Given the description of an element on the screen output the (x, y) to click on. 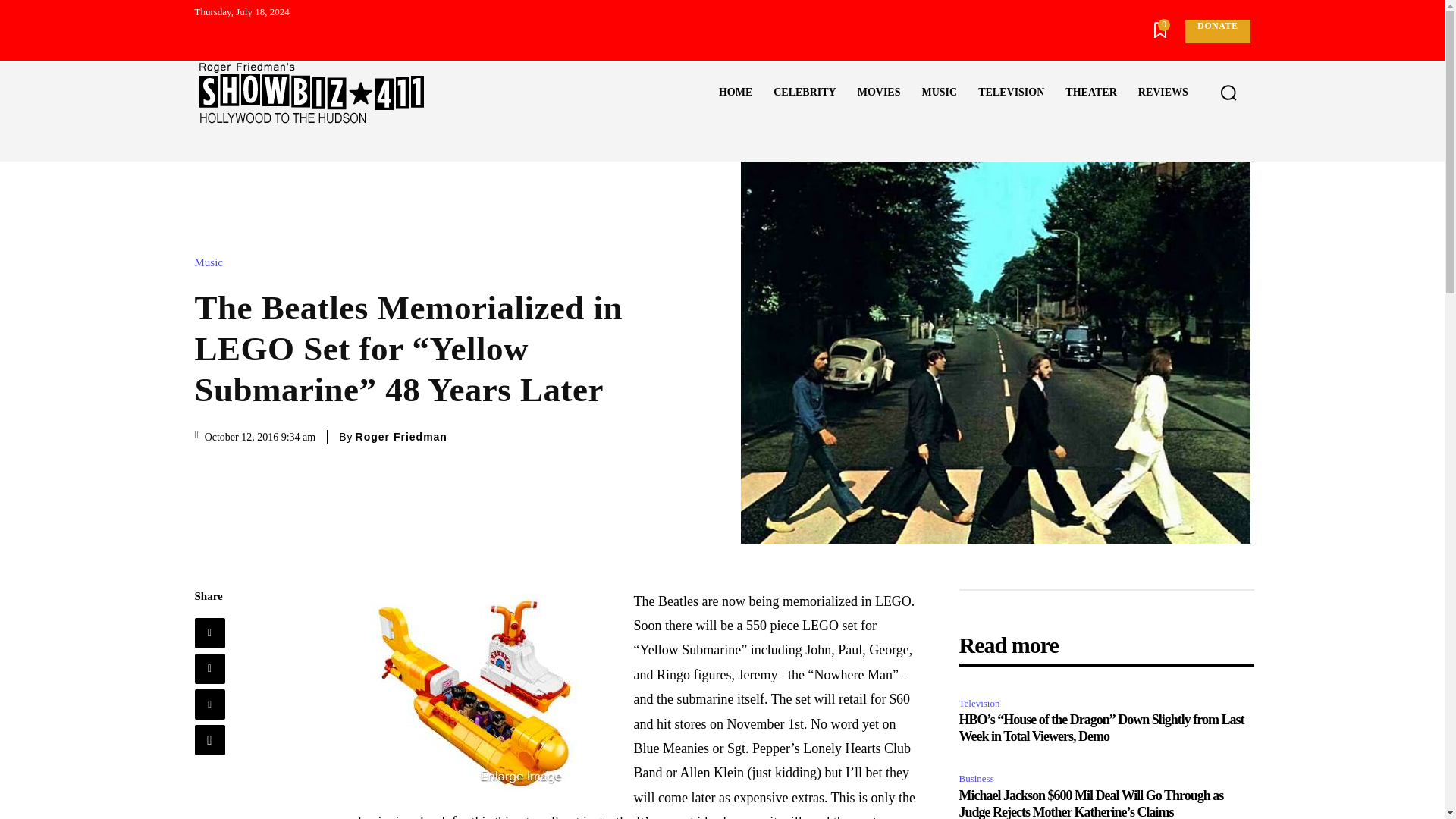
Donate (1217, 31)
HOME (734, 92)
Pinterest (208, 704)
WhatsApp (208, 739)
DONATE (1217, 31)
Twitter (208, 668)
REVIEWS (1162, 92)
THEATER (1090, 92)
Facebook (208, 633)
TELEVISION (1011, 92)
CELEBRITY (803, 92)
0 (1160, 31)
MOVIES (879, 92)
MUSIC (939, 92)
Music (211, 262)
